Given the description of an element on the screen output the (x, y) to click on. 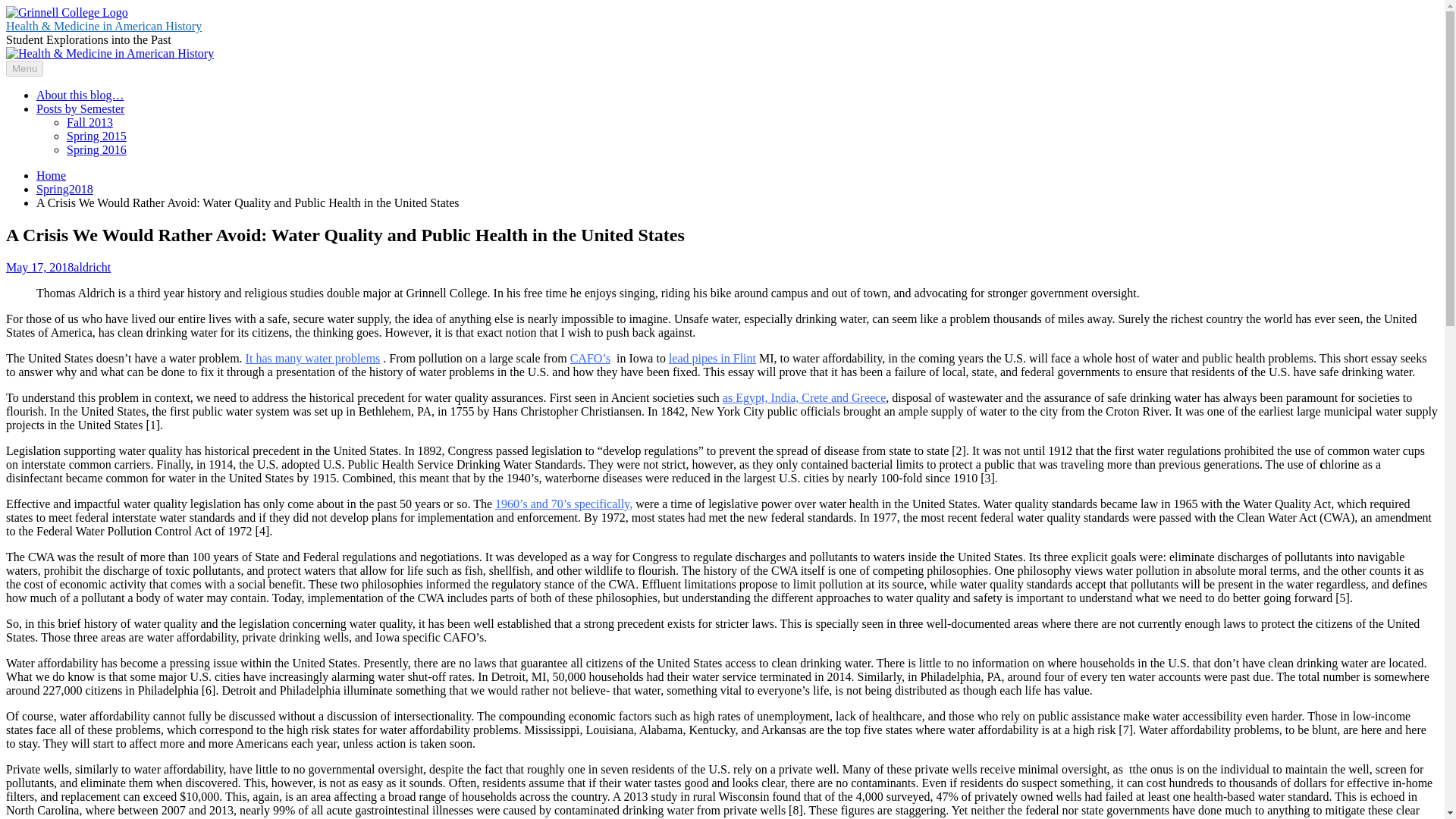
Posts by Semester (79, 108)
It has many water problems (313, 358)
Spring2018 (64, 188)
Fall 2013 (89, 122)
lead pipes in Flint (711, 358)
Home (50, 174)
aldricht (92, 267)
Spring 2015 (96, 135)
as Egypt, India, Crete and Greece (803, 397)
